Given the description of an element on the screen output the (x, y) to click on. 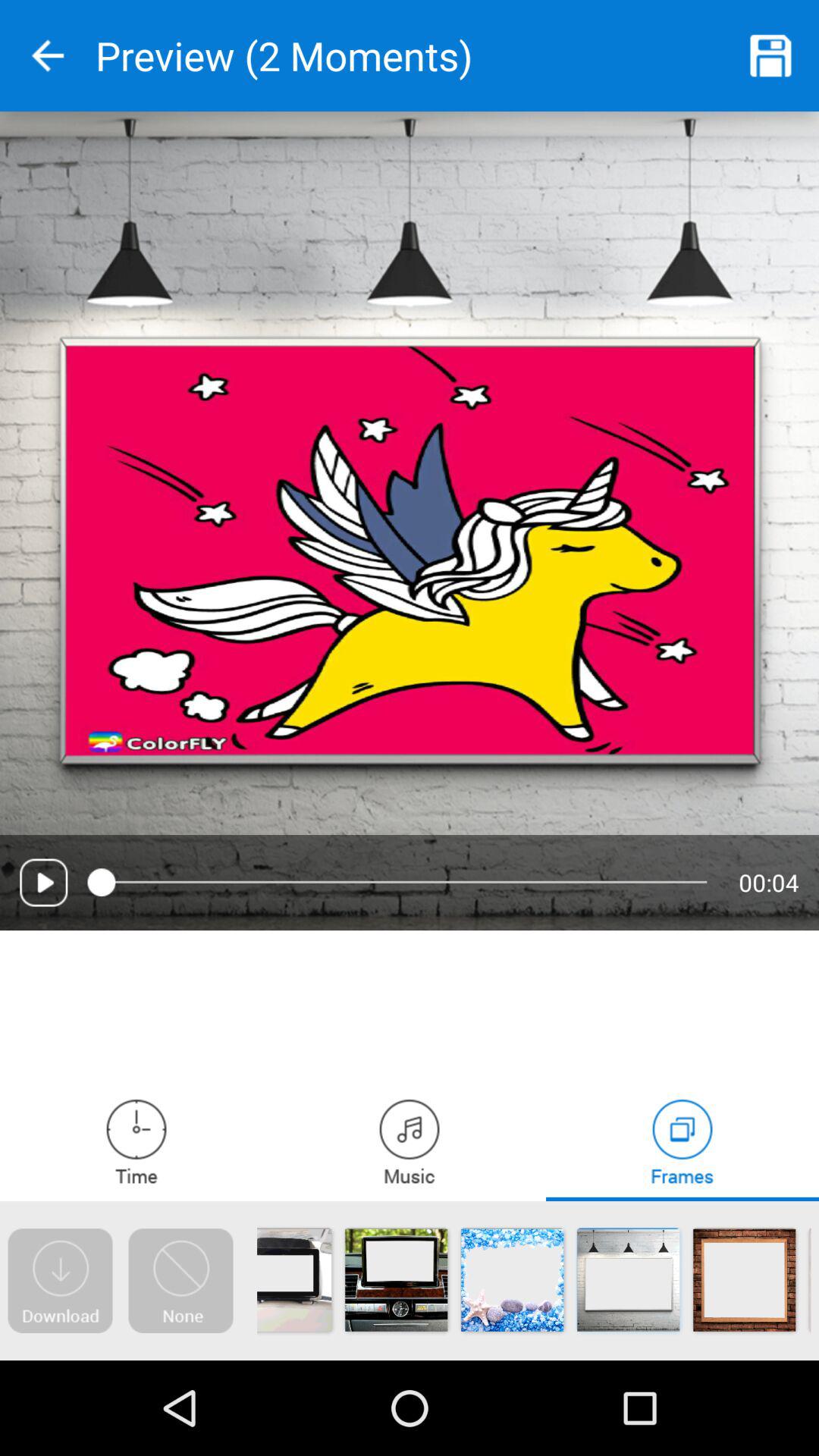
open the download page (59, 1280)
